Given the description of an element on the screen output the (x, y) to click on. 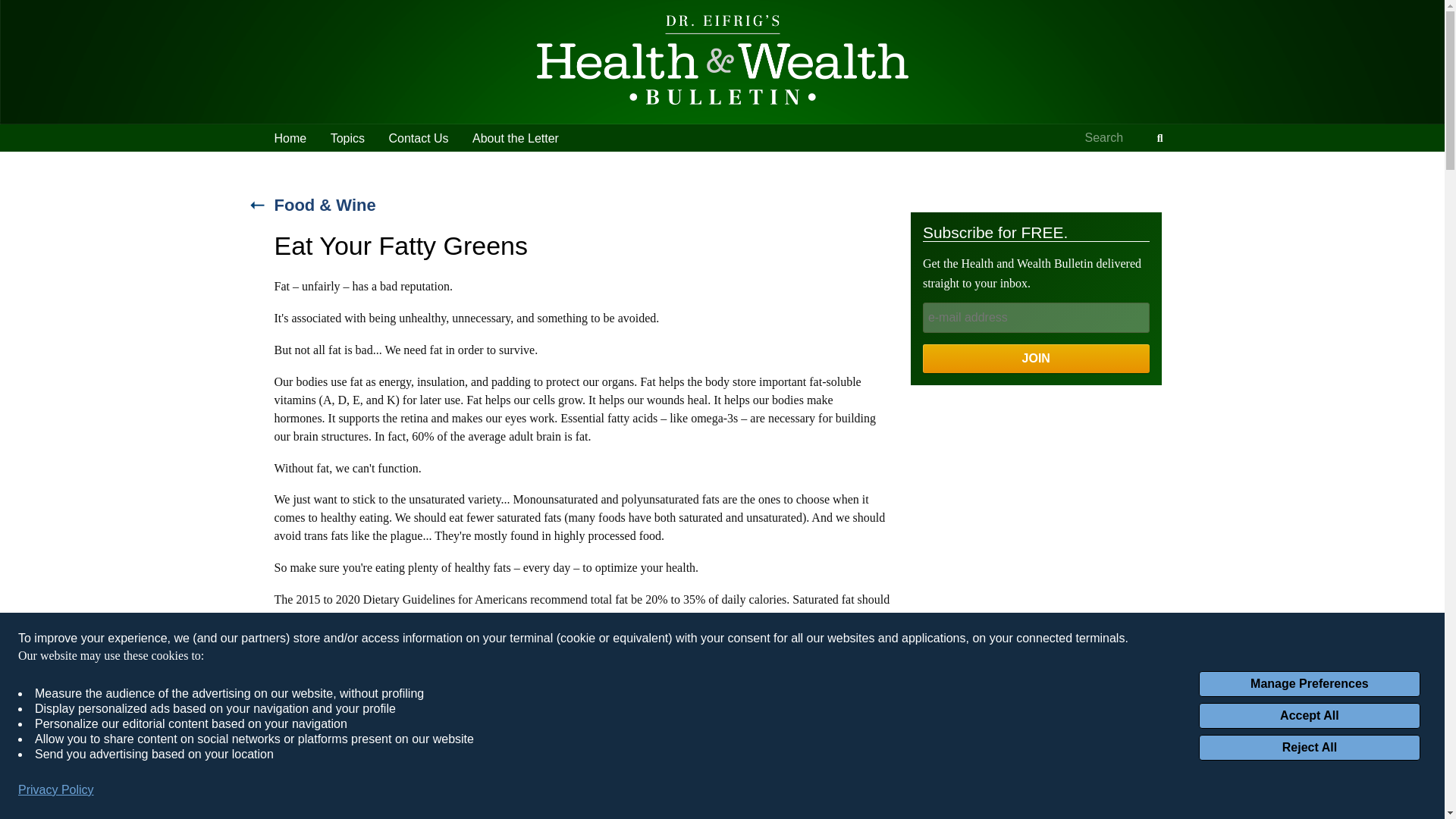
Accept All (1309, 715)
Home (290, 137)
JOIN (1036, 358)
About the Letter (515, 137)
Reject All (1309, 747)
Privacy Policy (55, 789)
Manage Preferences (1309, 683)
Contact Us (417, 137)
